Given the description of an element on the screen output the (x, y) to click on. 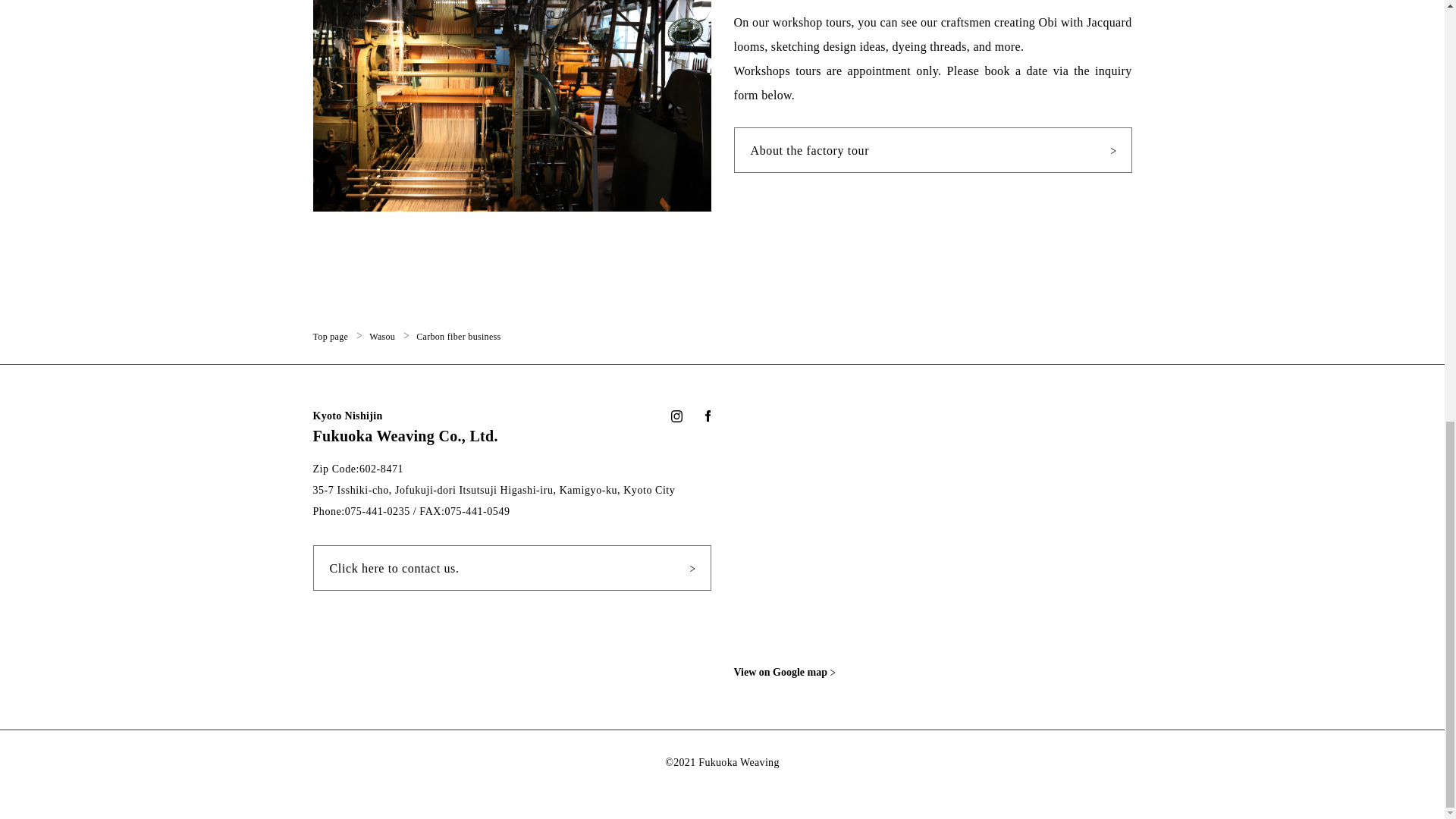
Carbon fiber business (458, 335)
Top page (330, 335)
Wasou (381, 335)
About the factory tour (932, 149)
View on Google map (791, 671)
Click here to contact us. (511, 567)
